Given the description of an element on the screen output the (x, y) to click on. 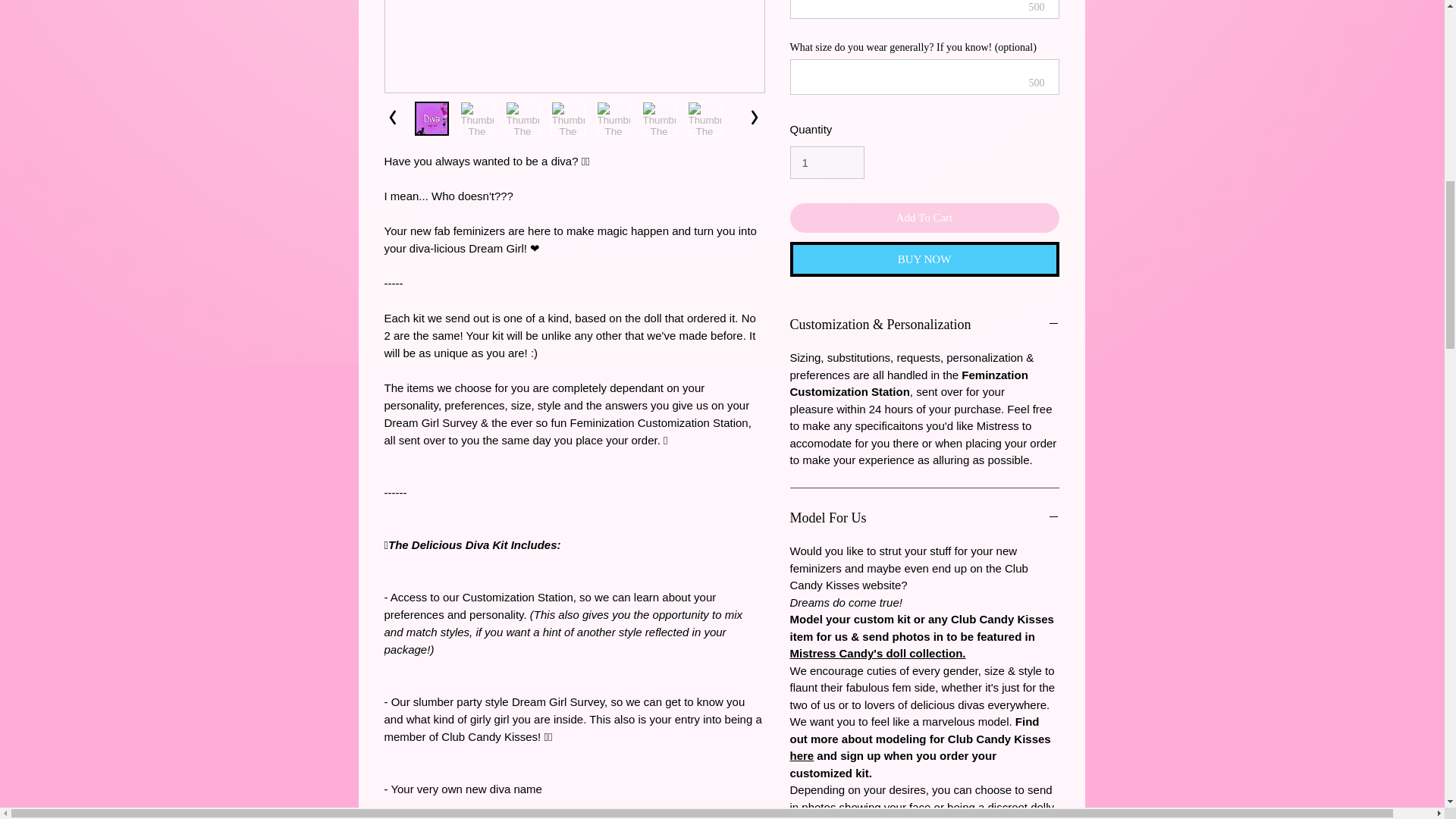
1 (827, 164)
